Given the description of an element on the screen output the (x, y) to click on. 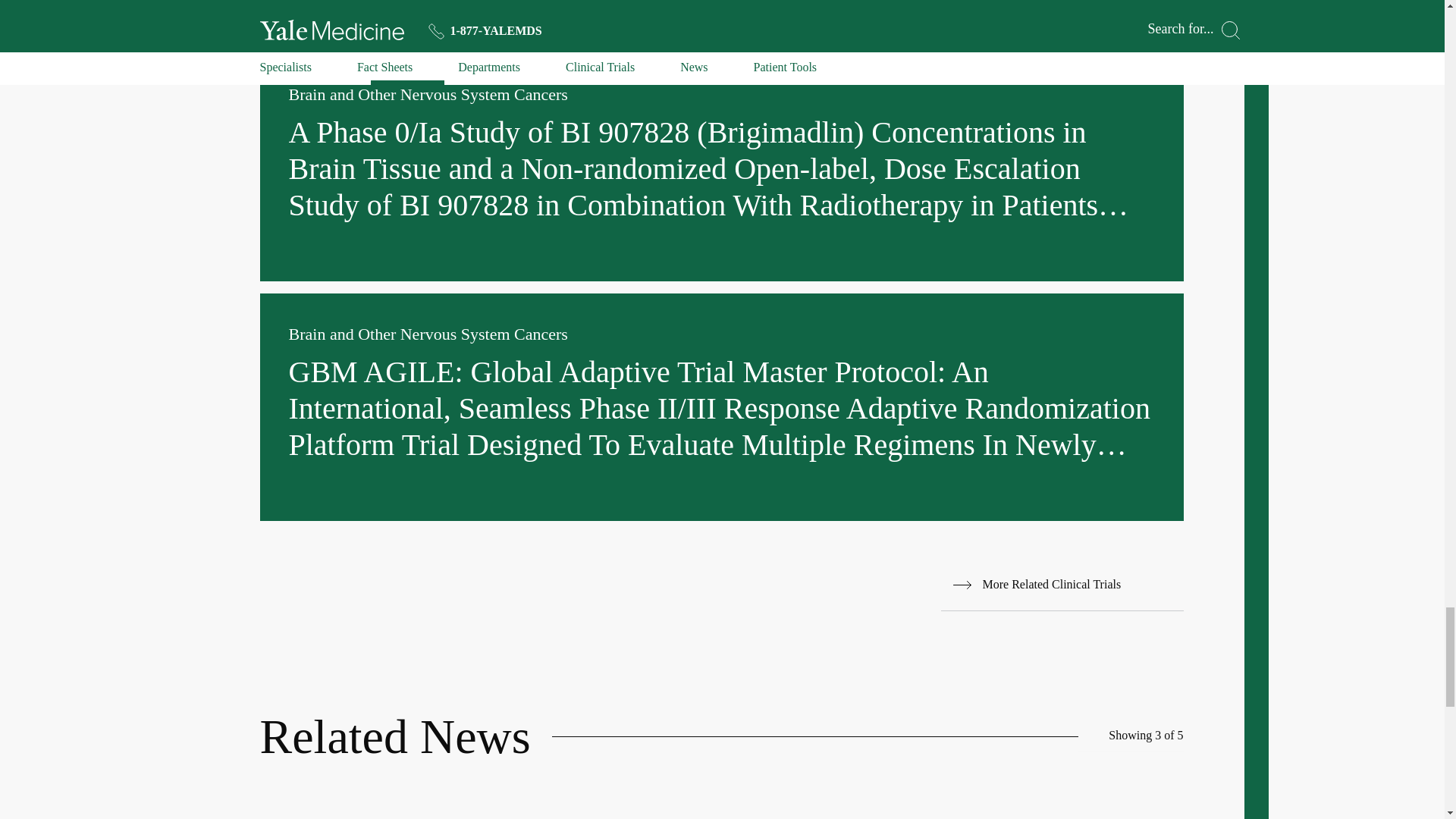
More Related Clinical Trials (1061, 584)
